Given the description of an element on the screen output the (x, y) to click on. 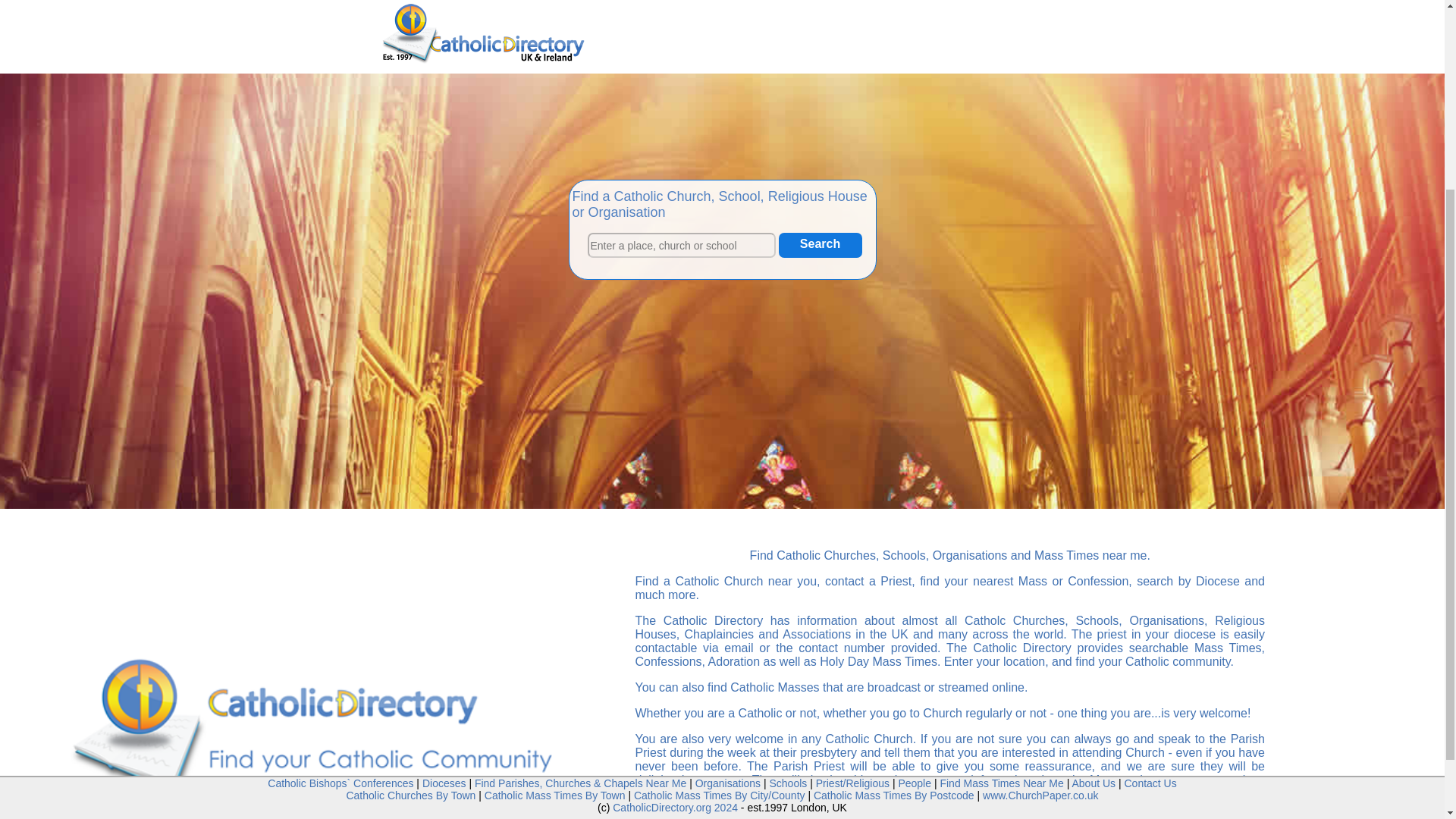
Dioceses (443, 527)
Catholic Churches By Town (411, 539)
Contact Us (1150, 527)
Organisations (970, 554)
Mass Times (1066, 554)
CatholicDirectory.org 2024 (675, 551)
Schools (904, 554)
Find Catholic Dioceses (443, 527)
Catholic Organisations and Associations (970, 554)
Schools (787, 527)
Find Catholic Parishes, Churches and Chapels Near Me (579, 527)
Organisations (727, 527)
Catholic School Near Me (904, 554)
People (914, 527)
Find Mass Times Near Me (1000, 527)
